Given the description of an element on the screen output the (x, y) to click on. 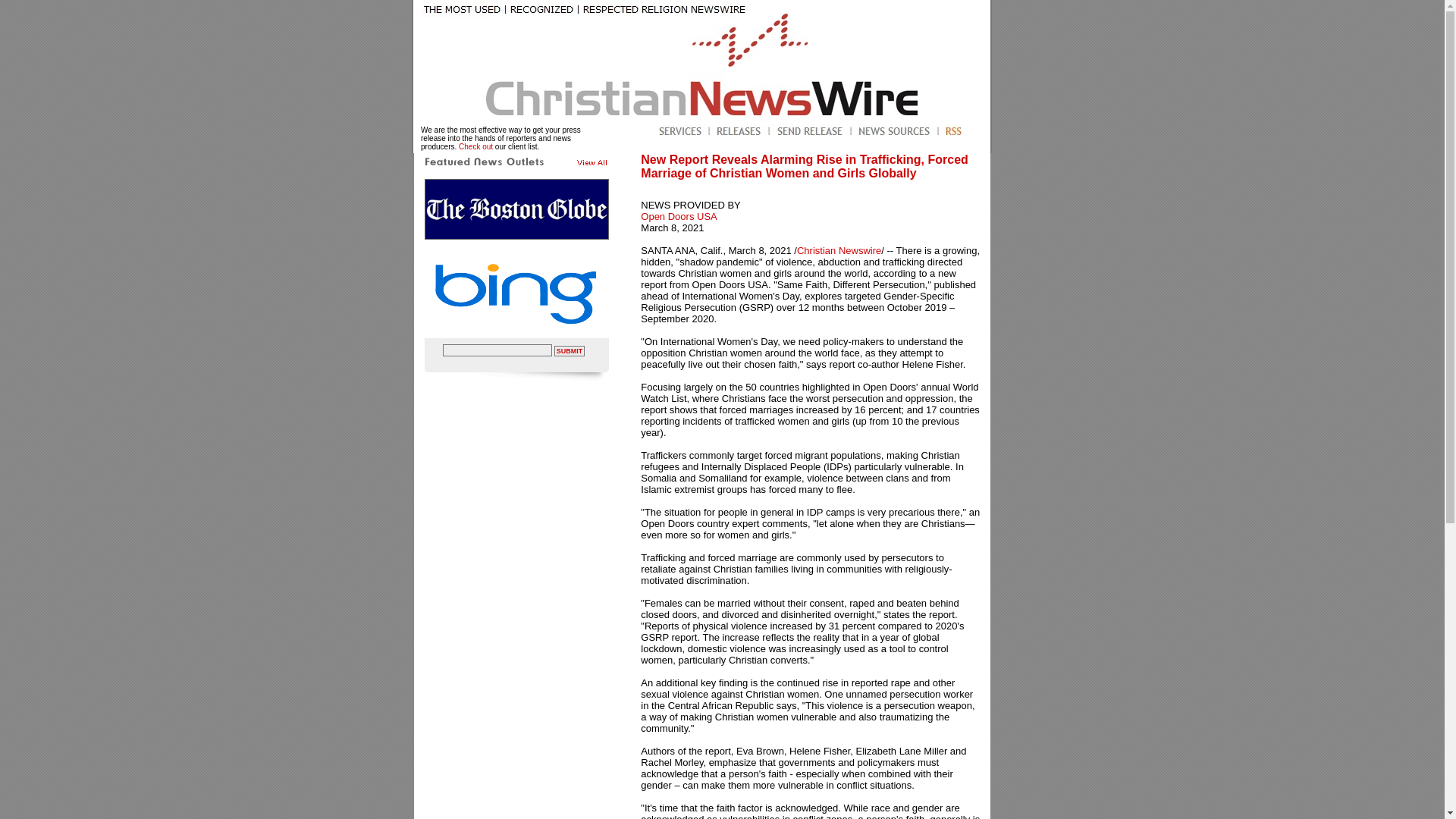
Bing (516, 293)
Open Doors USA (678, 215)
Check out (475, 146)
SUBMIT (569, 350)
The Boston Globe (516, 209)
Christian Newswire (838, 250)
